Given the description of an element on the screen output the (x, y) to click on. 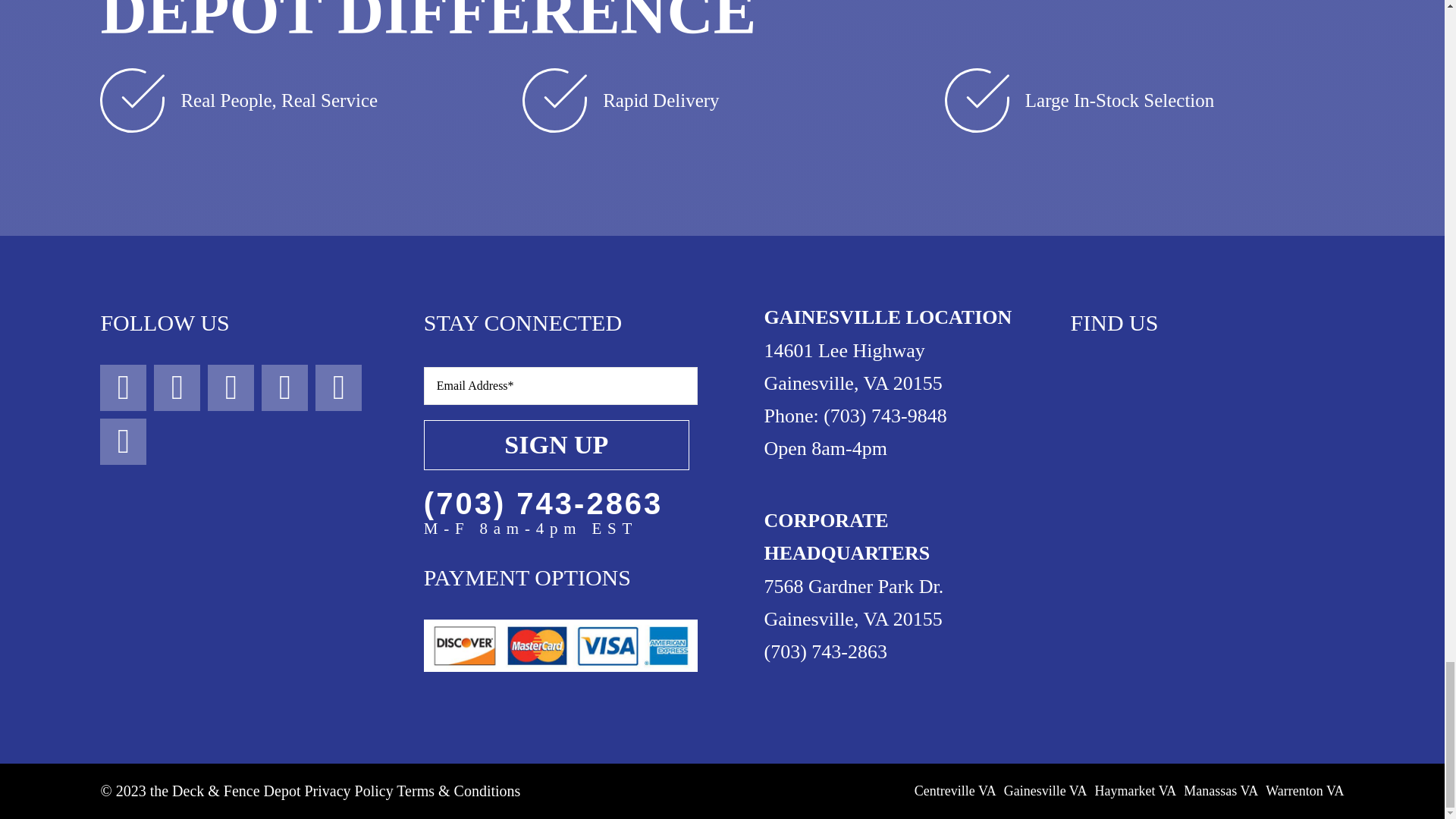
Twitter (230, 387)
Instagram (177, 387)
LinkedIn (123, 441)
Tiktok (284, 387)
SIGN UP (560, 424)
Pinterest (338, 387)
4CCImage (560, 645)
Facebook (123, 387)
